Given the description of an element on the screen output the (x, y) to click on. 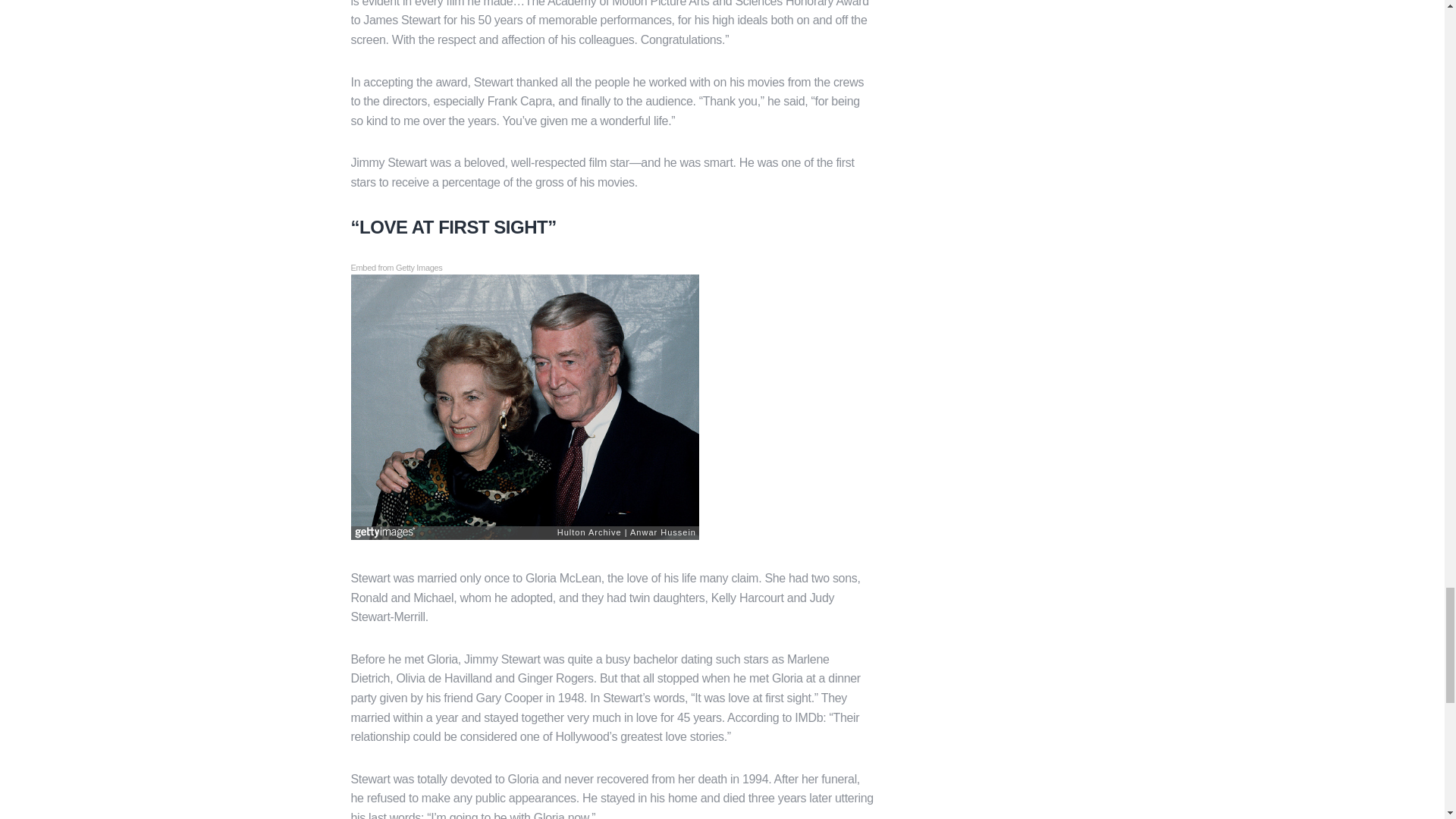
Embed from Getty Images (396, 268)
